Given the description of an element on the screen output the (x, y) to click on. 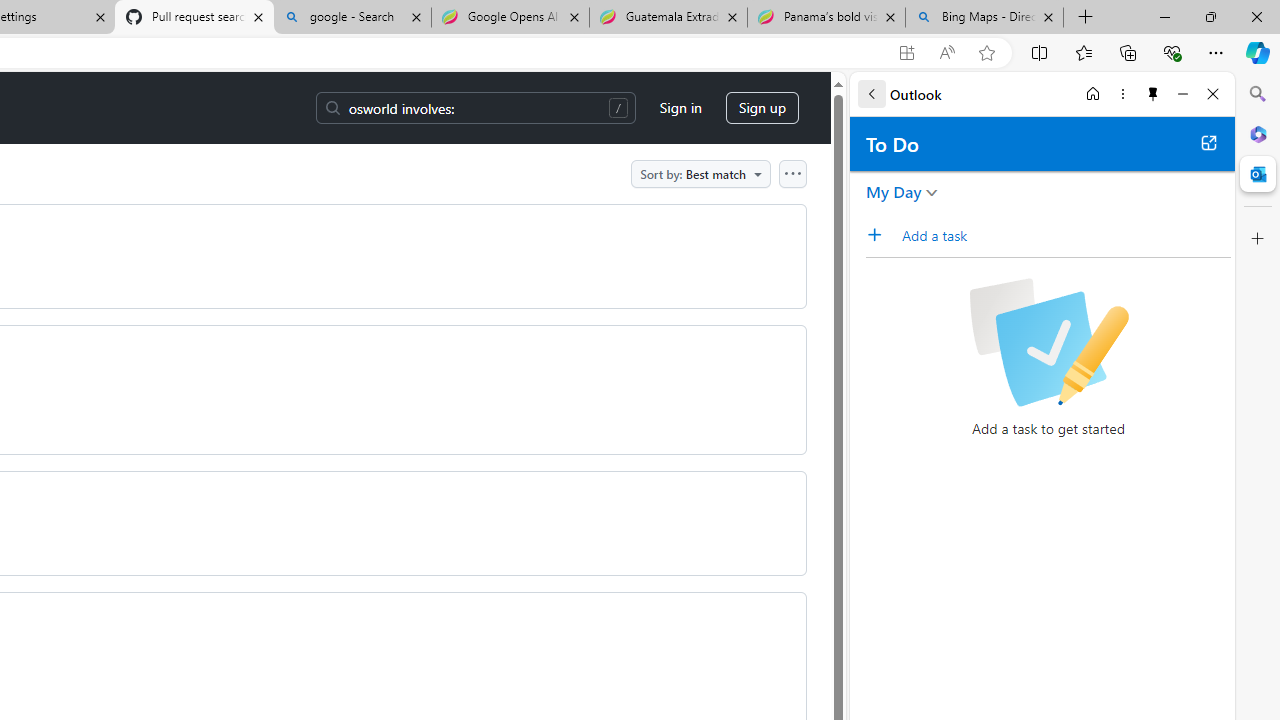
Sort by: Best match (700, 173)
Google Opens AI Academy for Startups - Nearshore Americas (509, 17)
Unpin side pane (1153, 93)
My Day (893, 191)
Sign in (680, 107)
Add a task (1065, 235)
